Given the description of an element on the screen output the (x, y) to click on. 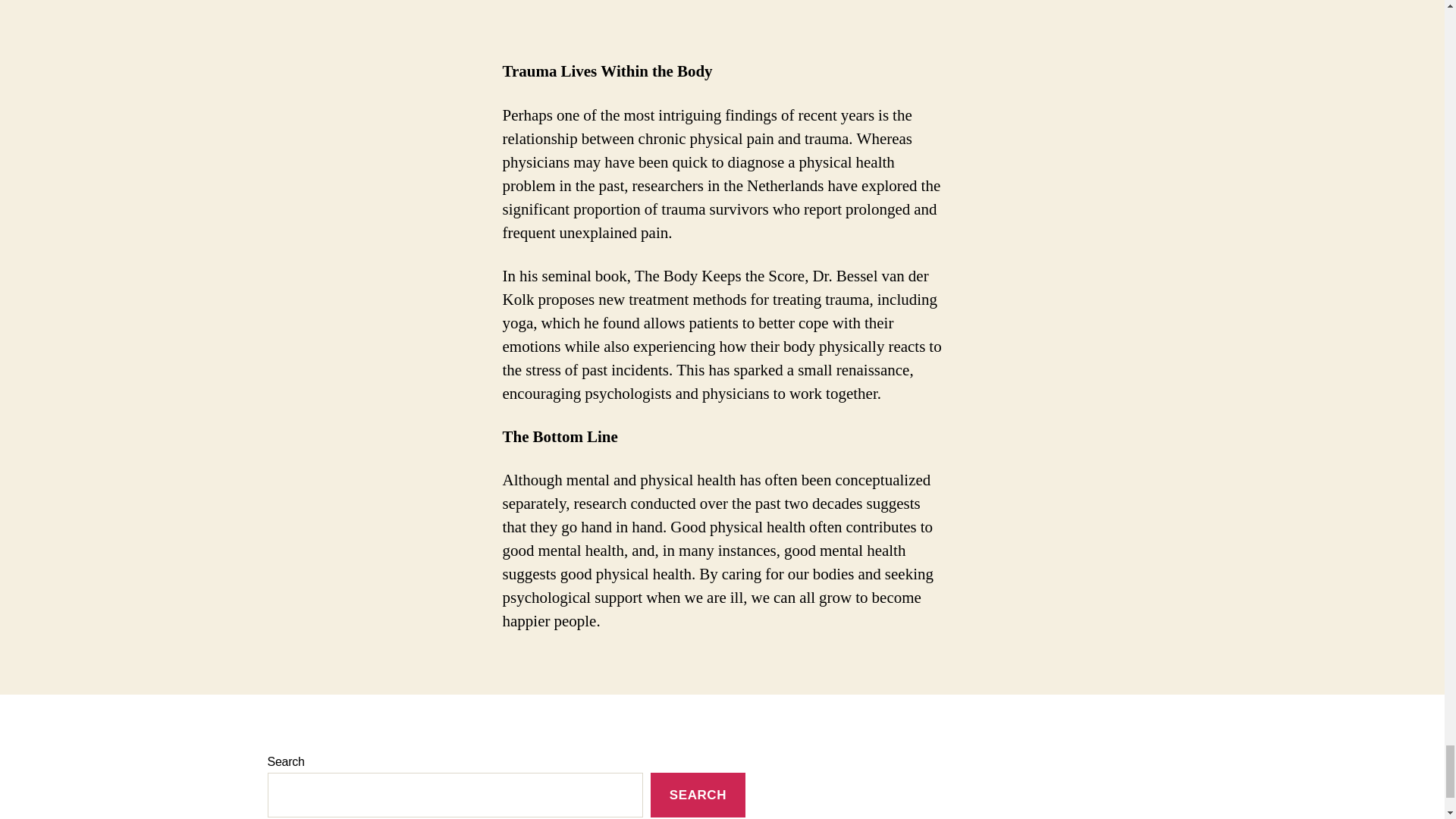
SEARCH (697, 795)
